Given the description of an element on the screen output the (x, y) to click on. 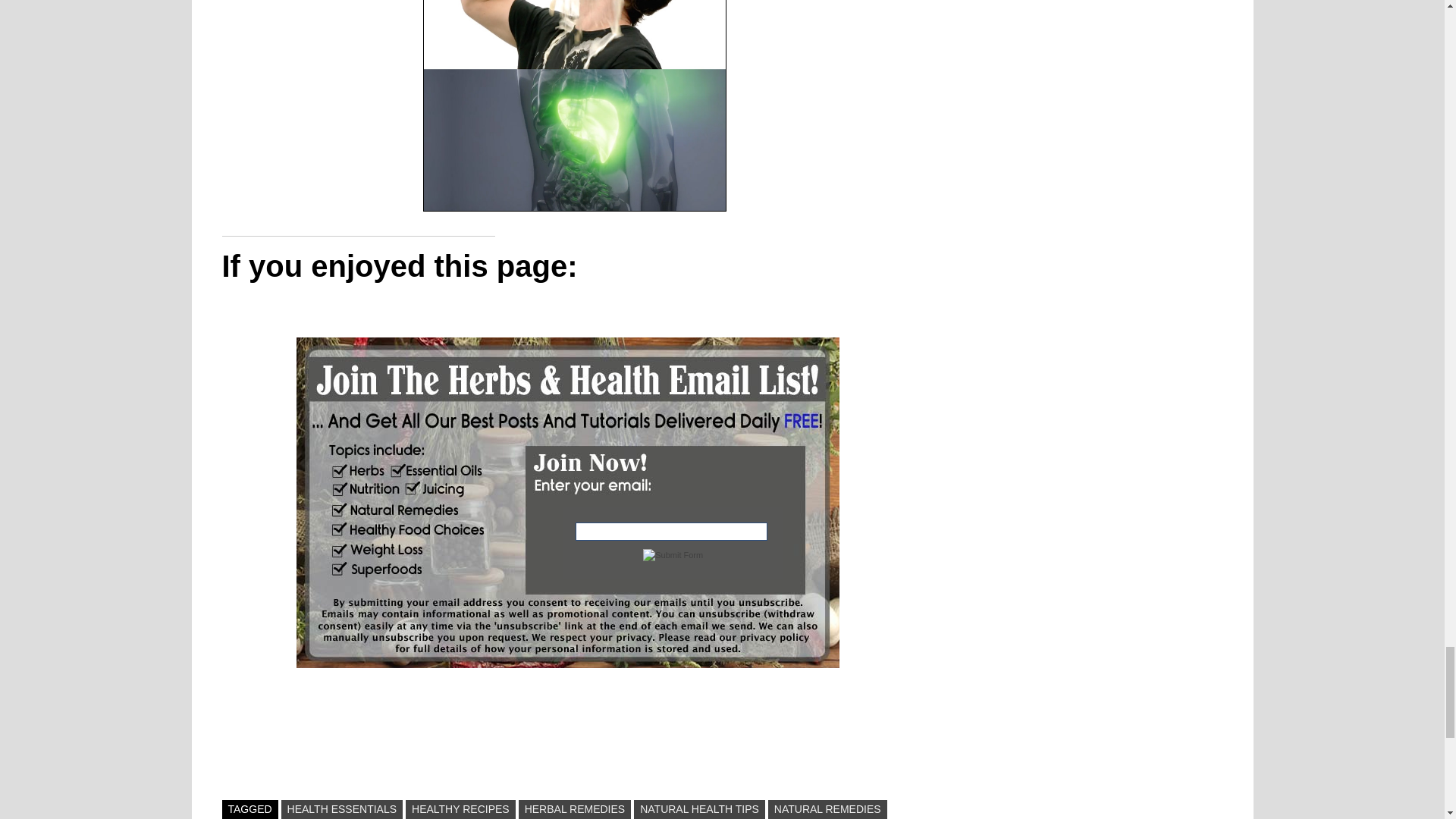
NATURAL REMEDIES (827, 809)
HEALTHY RECIPES (460, 809)
NATURAL HEALTH TIPS (699, 809)
HERBAL REMEDIES (574, 809)
HEALTH ESSENTIALS (342, 809)
